Given the description of an element on the screen output the (x, y) to click on. 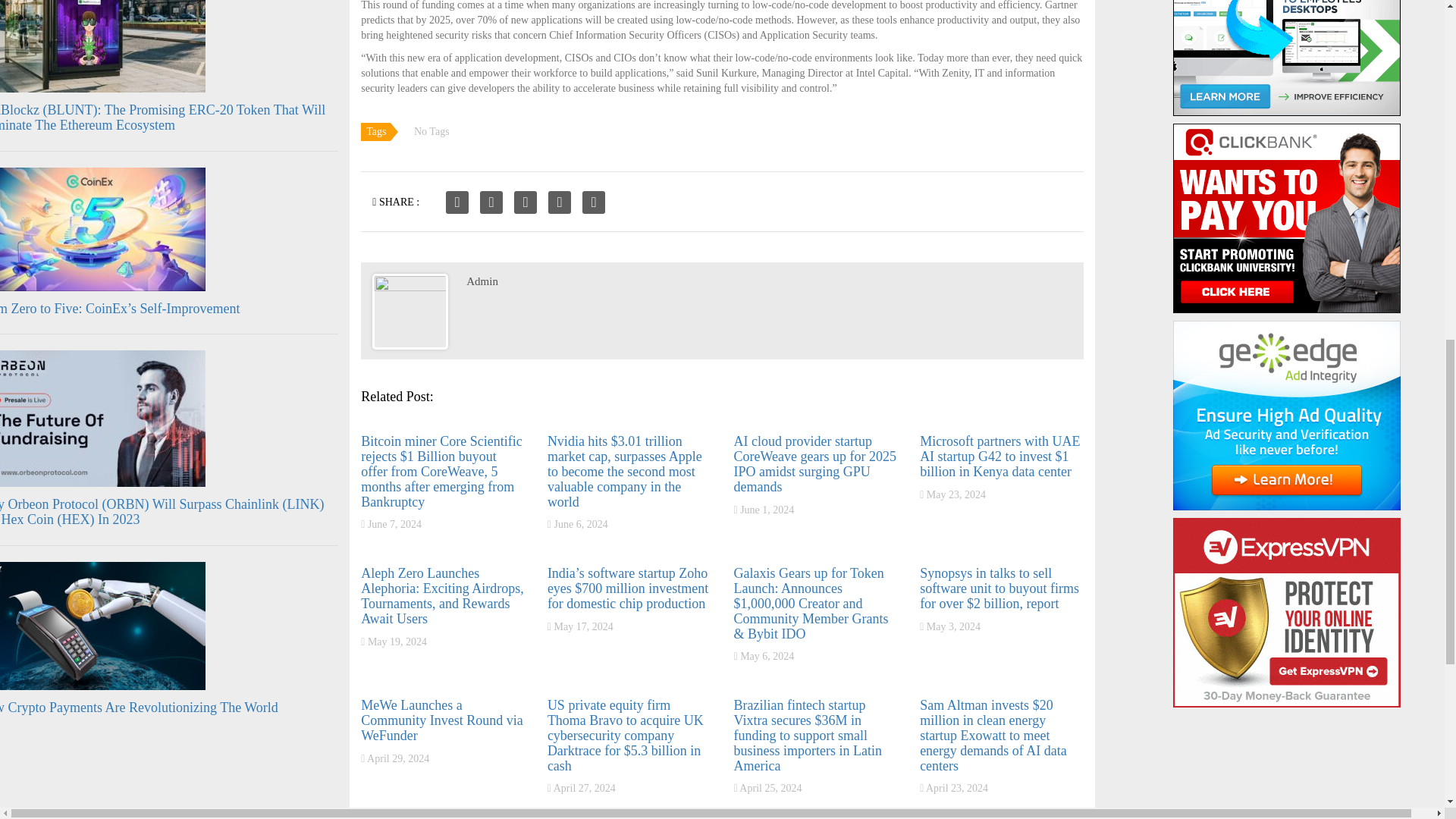
Posts by Admin (481, 281)
Share on Facebook (456, 201)
How Crypto Payments Are Revolutionizing The World (139, 707)
